Given the description of an element on the screen output the (x, y) to click on. 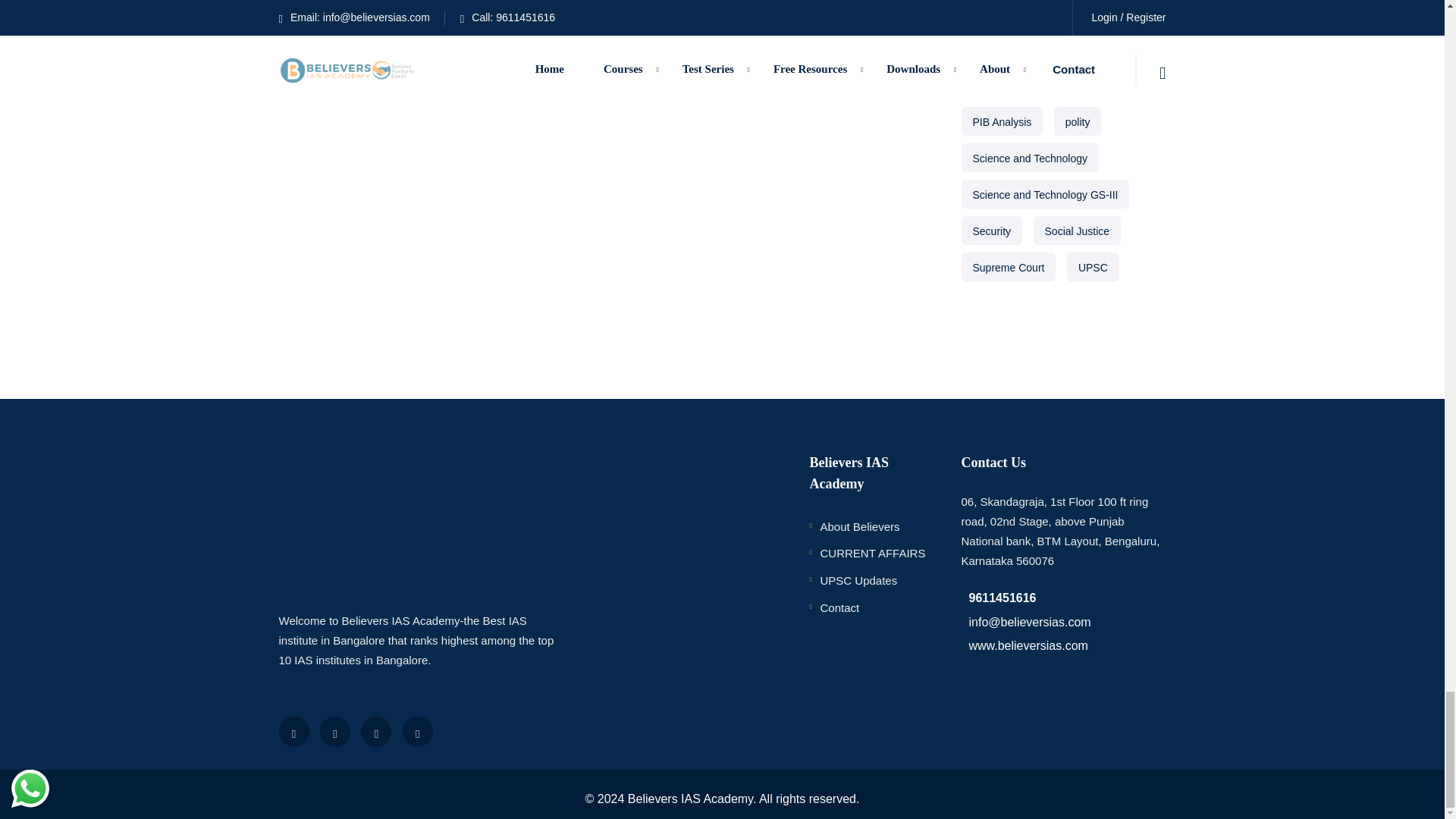
Youtube (376, 731)
Instagram (417, 731)
Twitter (335, 731)
Facebook (293, 731)
